Given the description of an element on the screen output the (x, y) to click on. 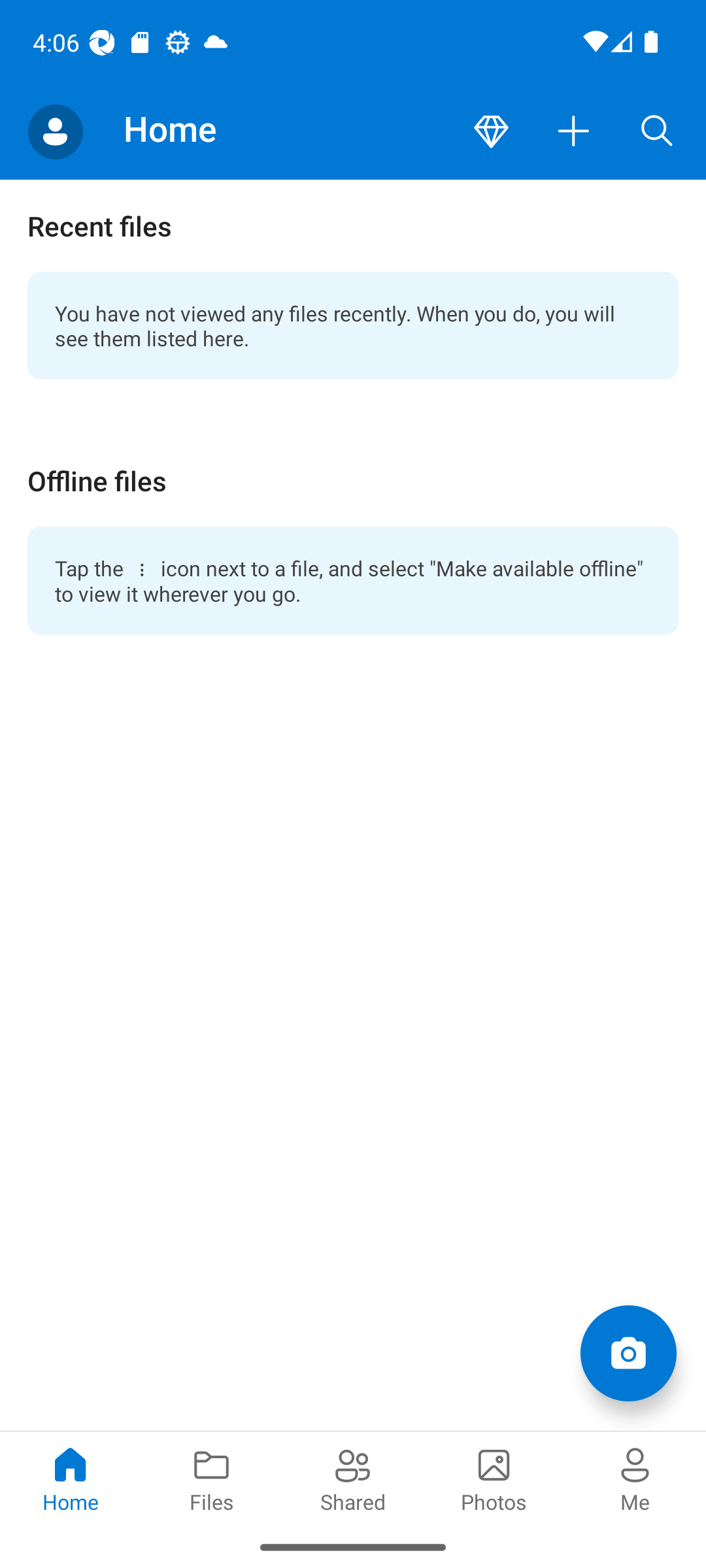
Account switcher (55, 131)
Premium button (491, 131)
More actions button (574, 131)
Search button (656, 131)
Scan (628, 1352)
Files pivot Files (211, 1478)
Shared pivot Shared (352, 1478)
Photos pivot Photos (493, 1478)
Me pivot Me (635, 1478)
